Given the description of an element on the screen output the (x, y) to click on. 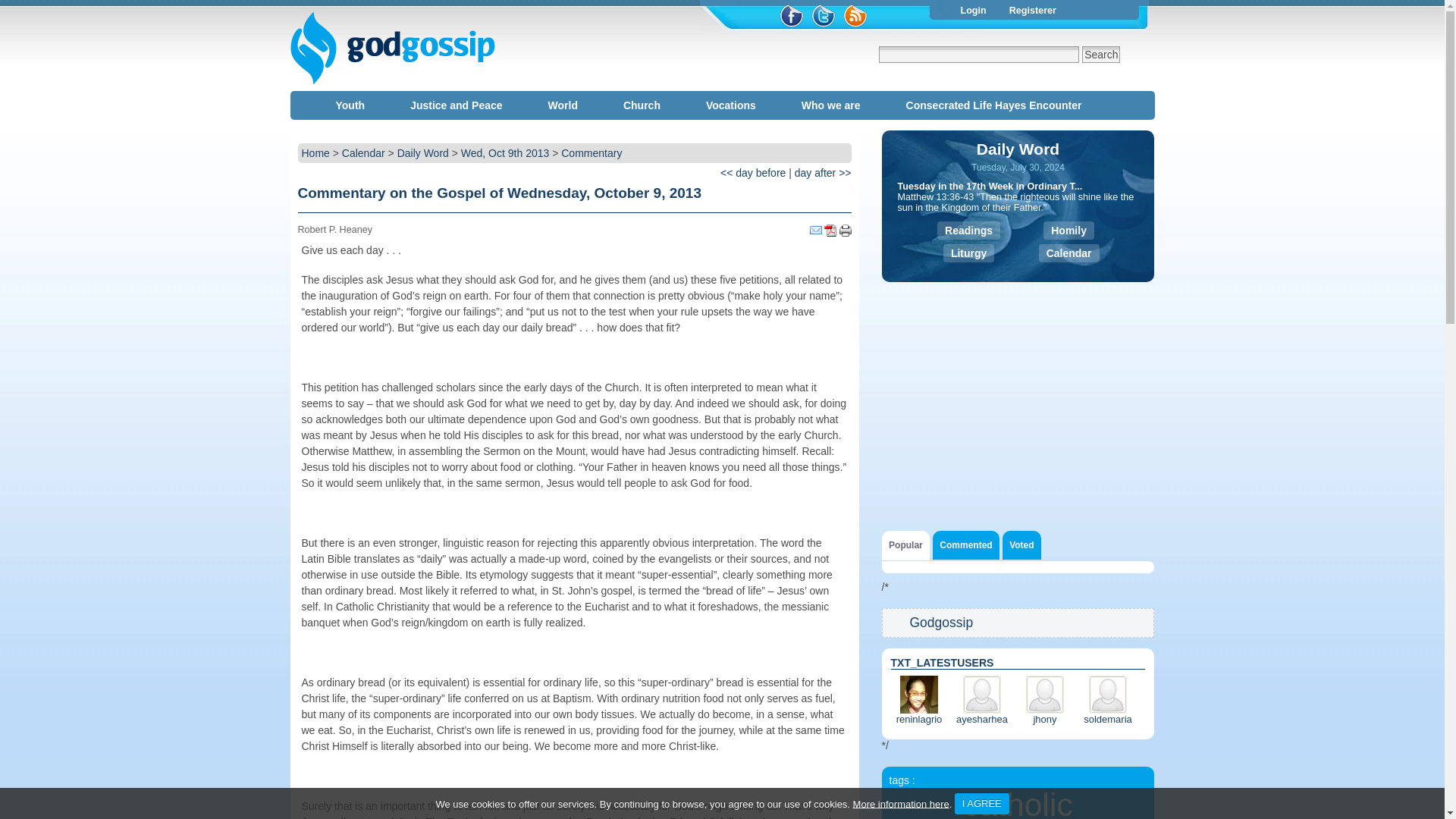
Church (645, 104)
Registerer (1032, 10)
Youth (353, 104)
World (565, 104)
Login (973, 10)
print (844, 230)
Search (1100, 54)
Justice and Peace (459, 104)
Search (1100, 54)
Vocations (734, 104)
